Given the description of an element on the screen output the (x, y) to click on. 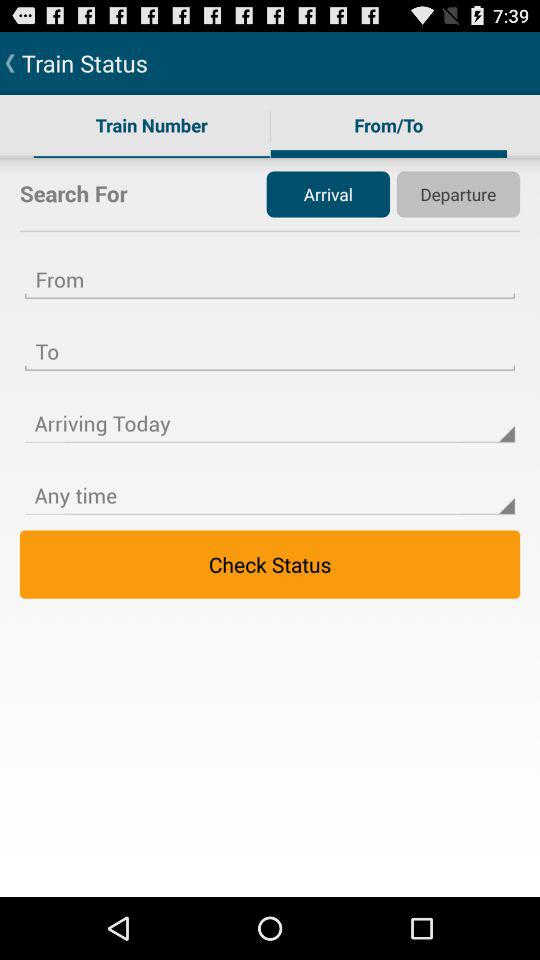
arrival textbox (269, 339)
